Given the description of an element on the screen output the (x, y) to click on. 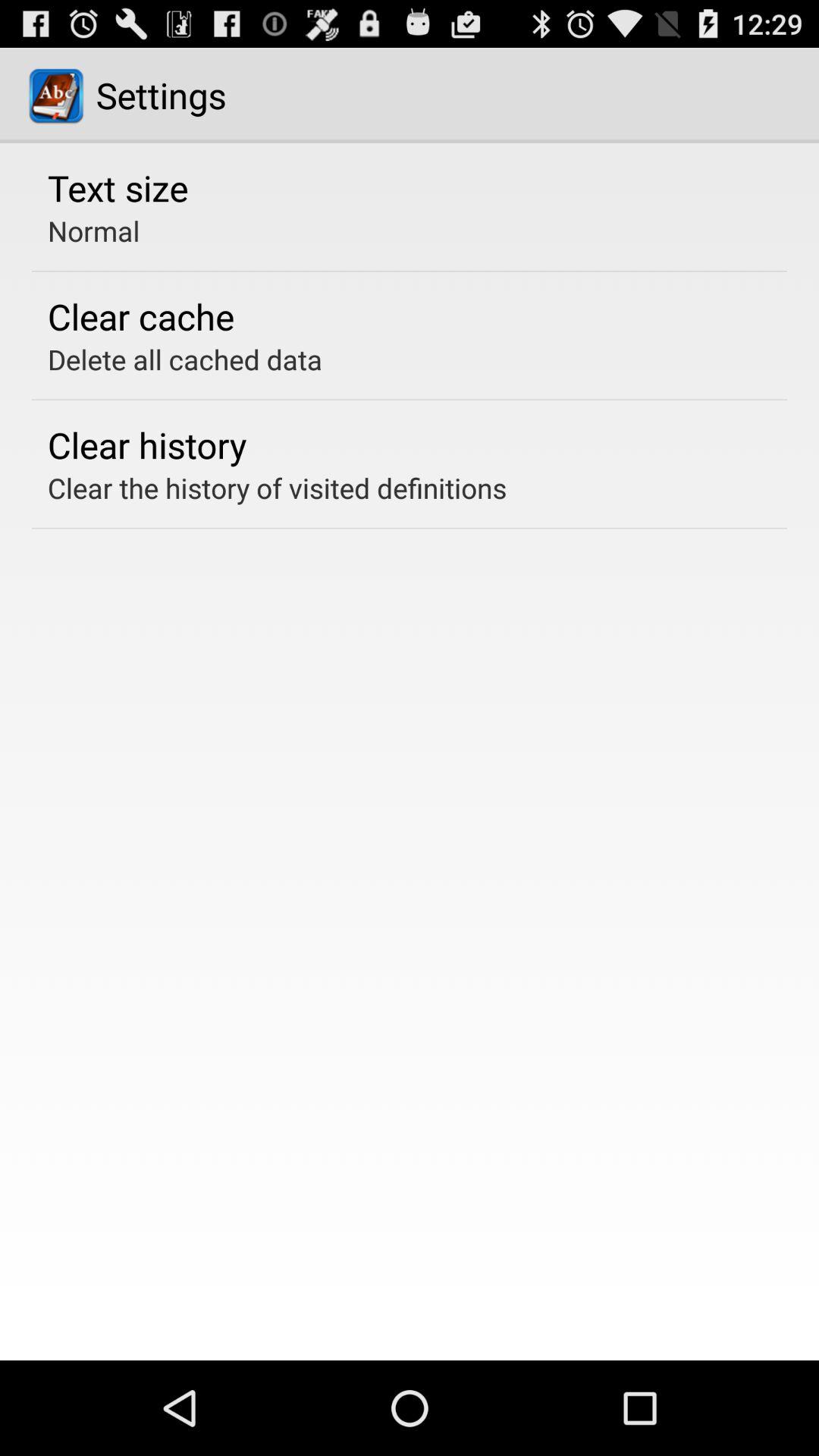
launch normal (93, 230)
